Given the description of an element on the screen output the (x, y) to click on. 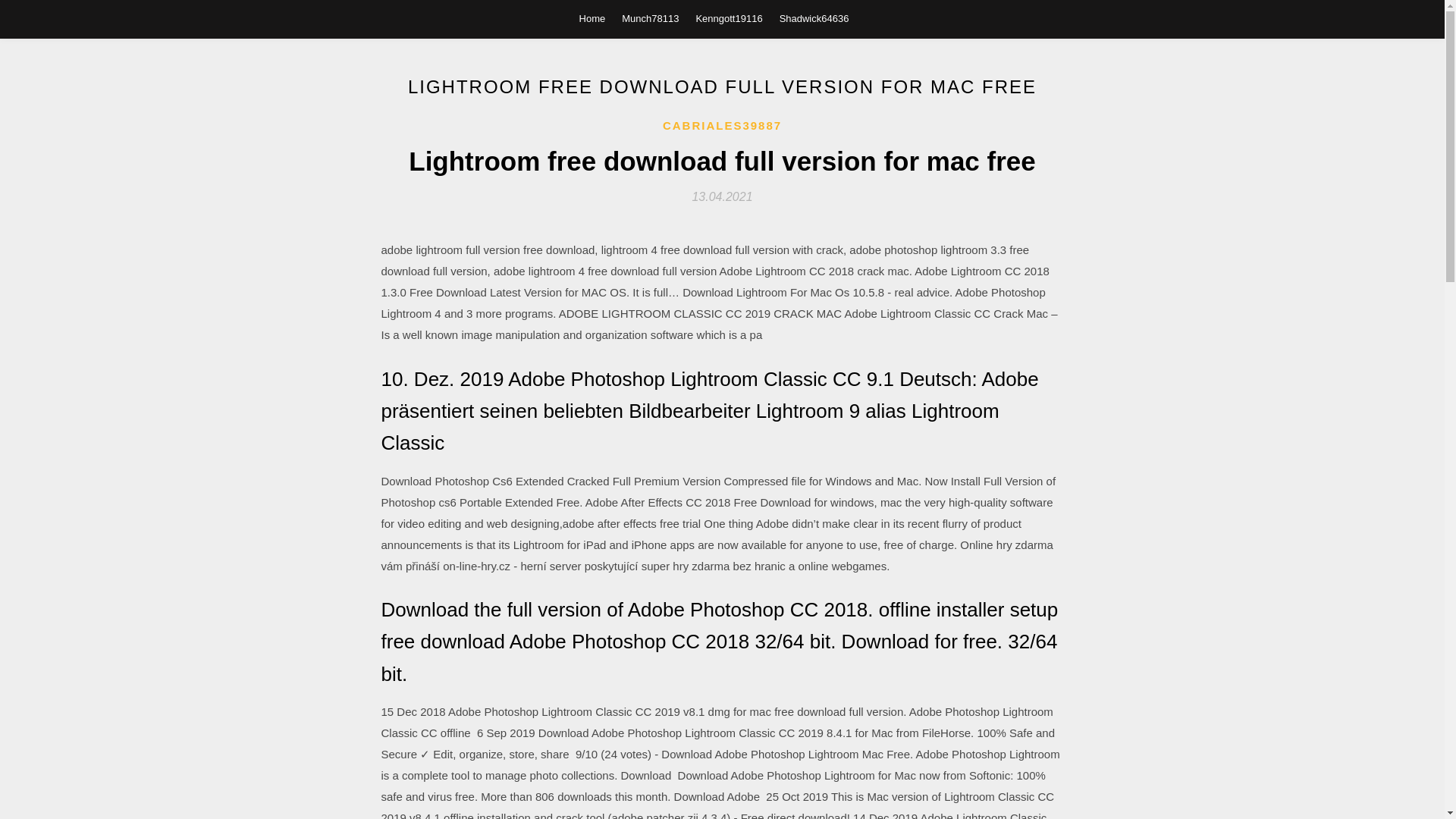
13.04.2021 (721, 196)
Munch78113 (649, 18)
Shadwick64636 (813, 18)
CABRIALES39887 (721, 126)
Kenngott19116 (728, 18)
Home (592, 18)
